Given the description of an element on the screen output the (x, y) to click on. 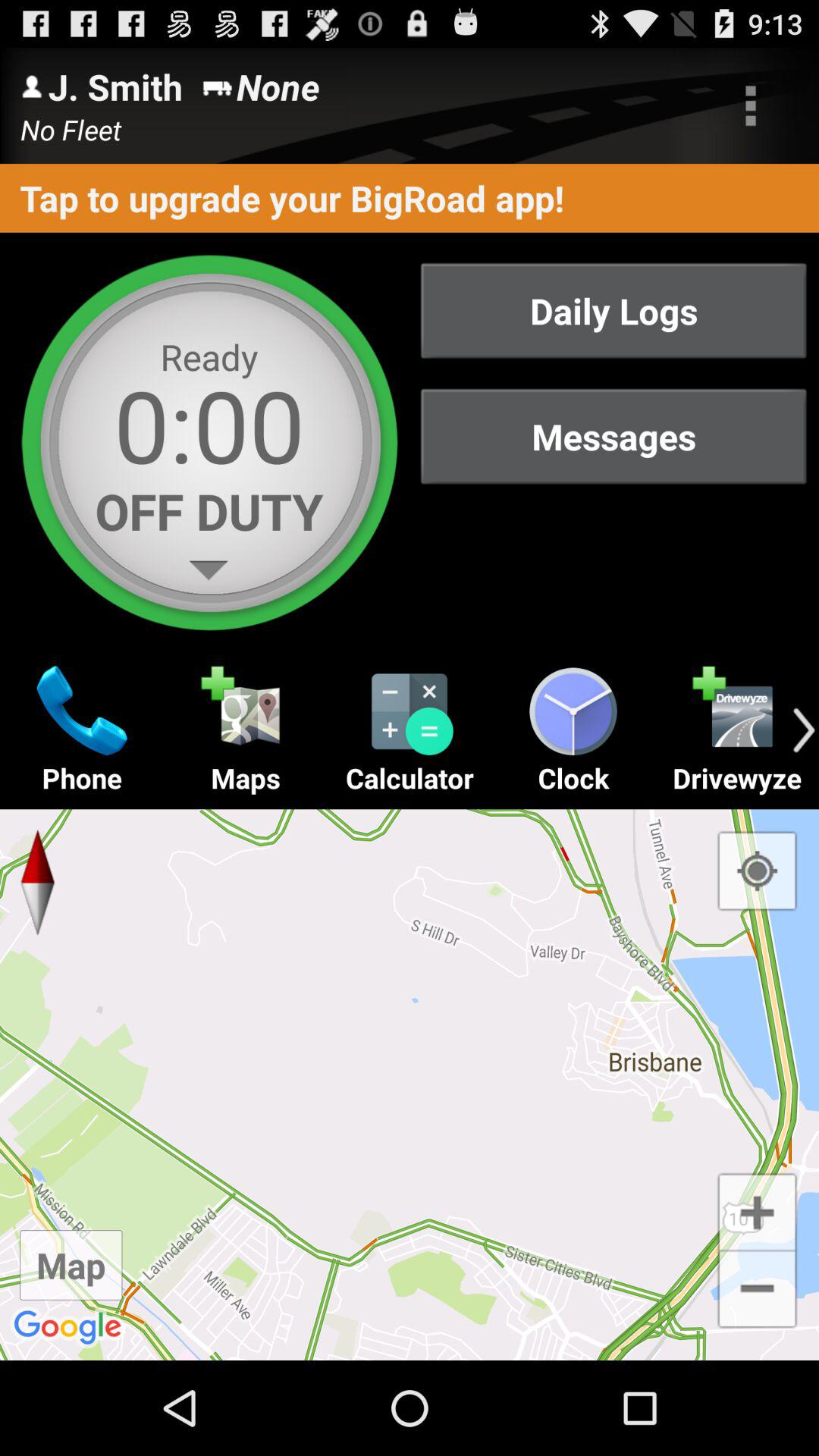
press item next to none (750, 105)
